Given the description of an element on the screen output the (x, y) to click on. 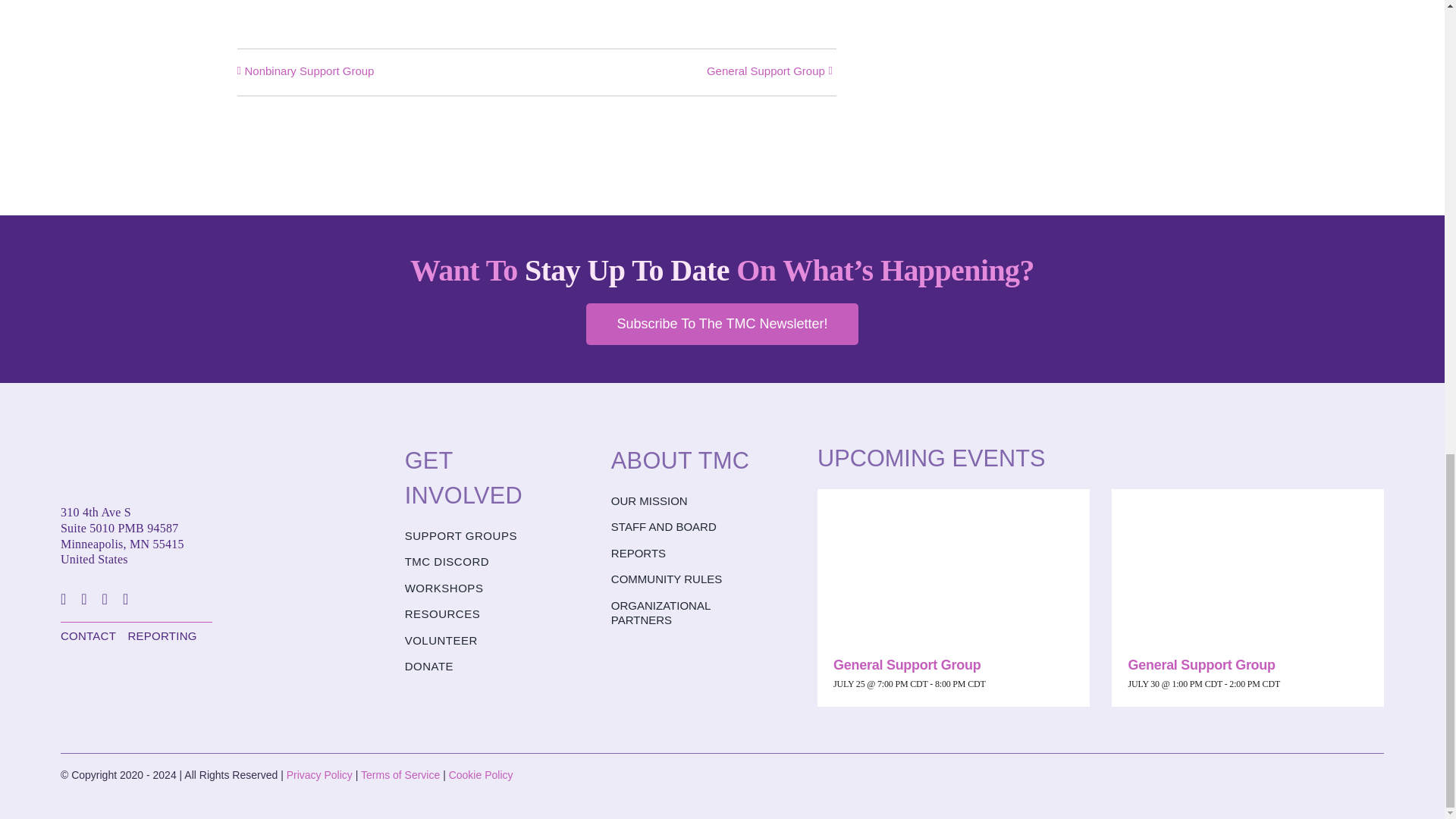
TMC-logo-full-retina (136, 460)
